Given the description of an element on the screen output the (x, y) to click on. 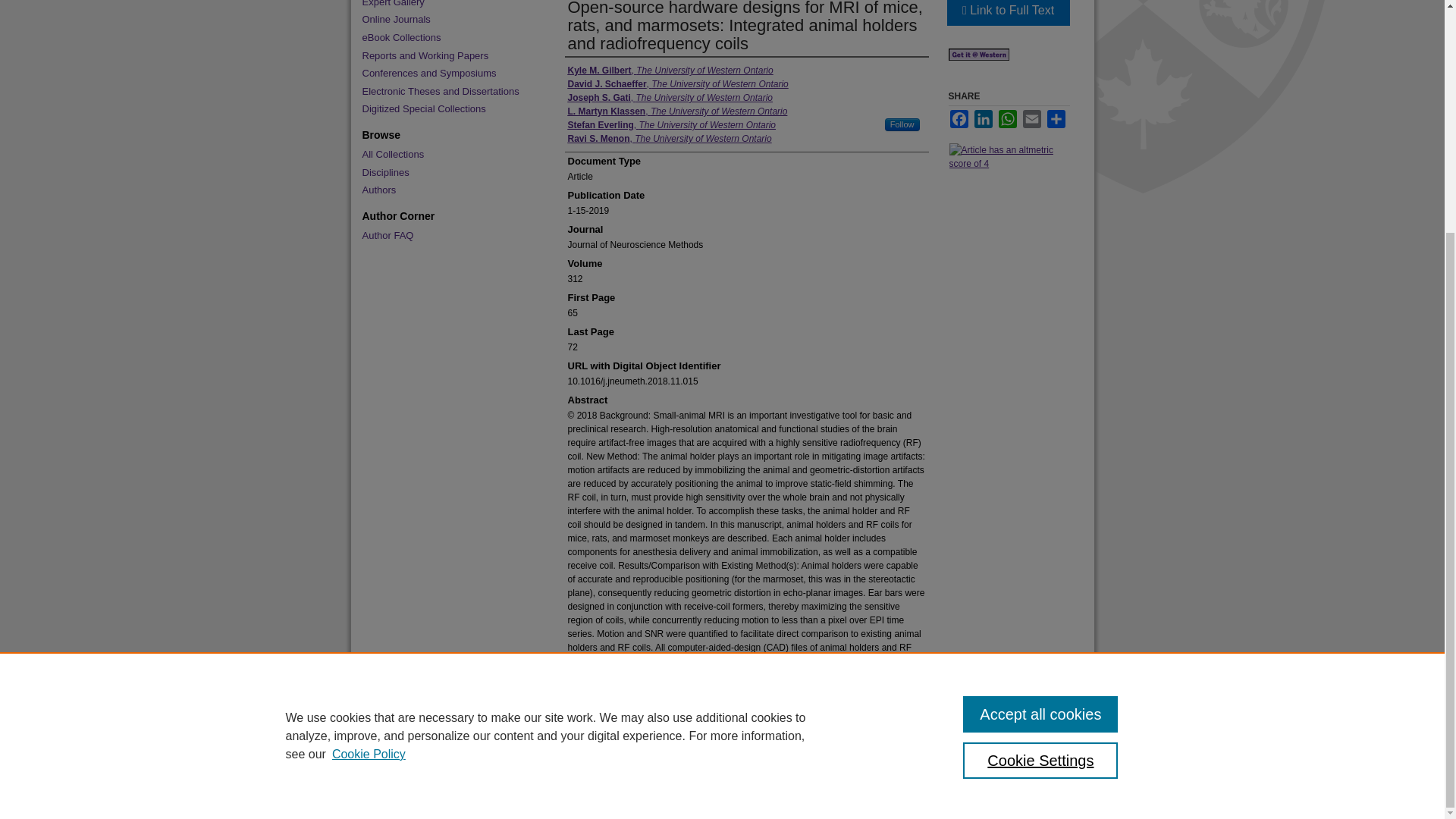
L. Martyn Klassen, The University of Western Ontario (677, 110)
Follow Stefan Everling (902, 124)
Facebook (958, 118)
Stefan Everling, The University of Western Ontario (671, 124)
Share (1055, 118)
WhatsApp (1006, 118)
OpenURL (978, 57)
Kyle M. Gilbert, The University of Western Ontario (670, 69)
Email (1031, 118)
Follow (902, 124)
LinkedIn (982, 118)
Ravi S. Menon, The University of Western Ontario (669, 138)
Expert Gallery (447, 4)
Link to Full Text (1007, 12)
David J. Schaeffer, The University of Western Ontario (677, 83)
